Given the description of an element on the screen output the (x, y) to click on. 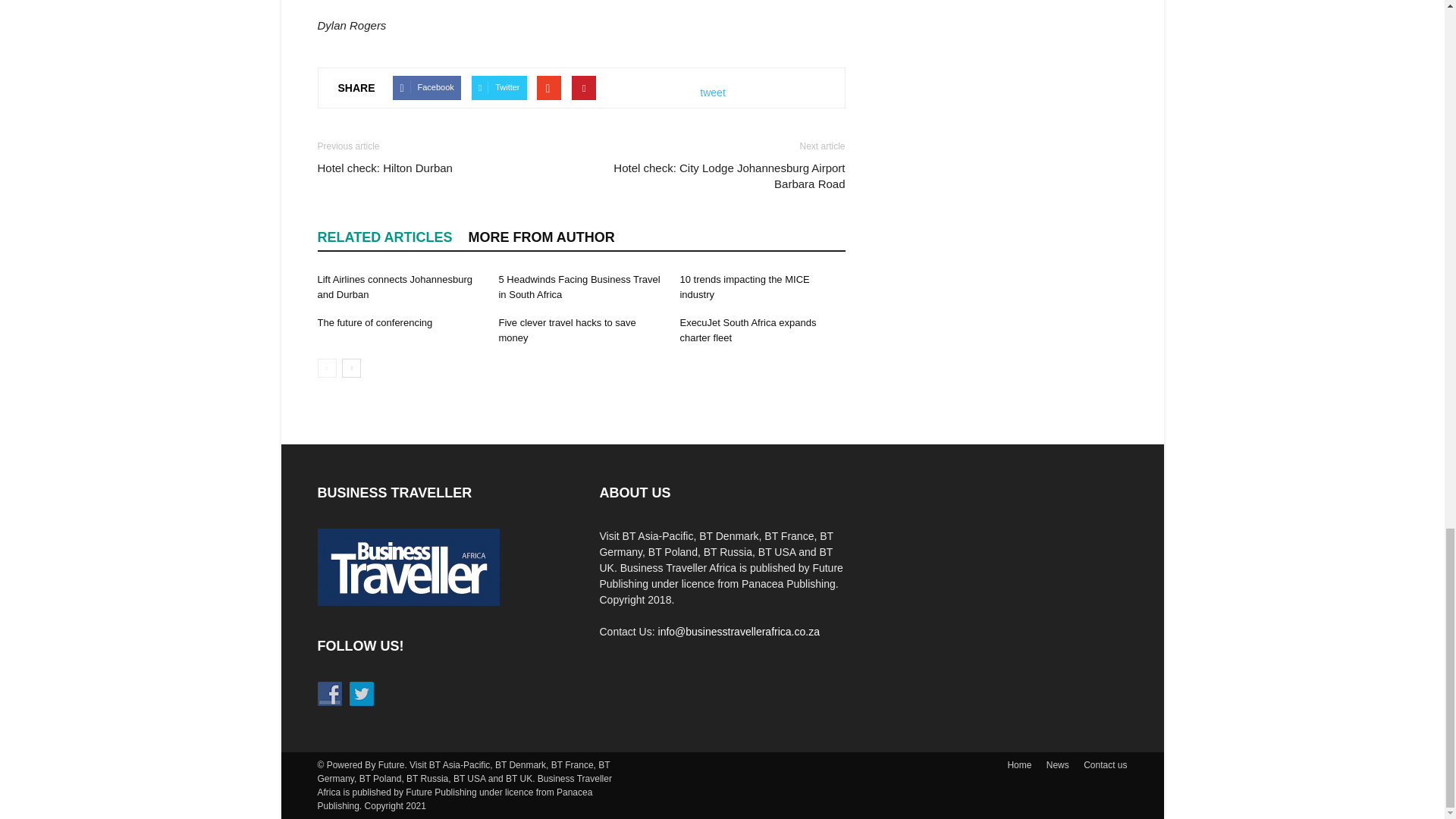
10 trends impacting the MICE industry (744, 286)
Lift Airlines connects Johannesburg and Durban (394, 286)
Follow Us: Facebook (328, 693)
ExecuJet South Africa expands charter fleet (747, 329)
The future of conferencing (374, 322)
Five clever travel hacks to save money (565, 329)
5 Headwinds Facing Business Travel in South Africa (578, 286)
